Given the description of an element on the screen output the (x, y) to click on. 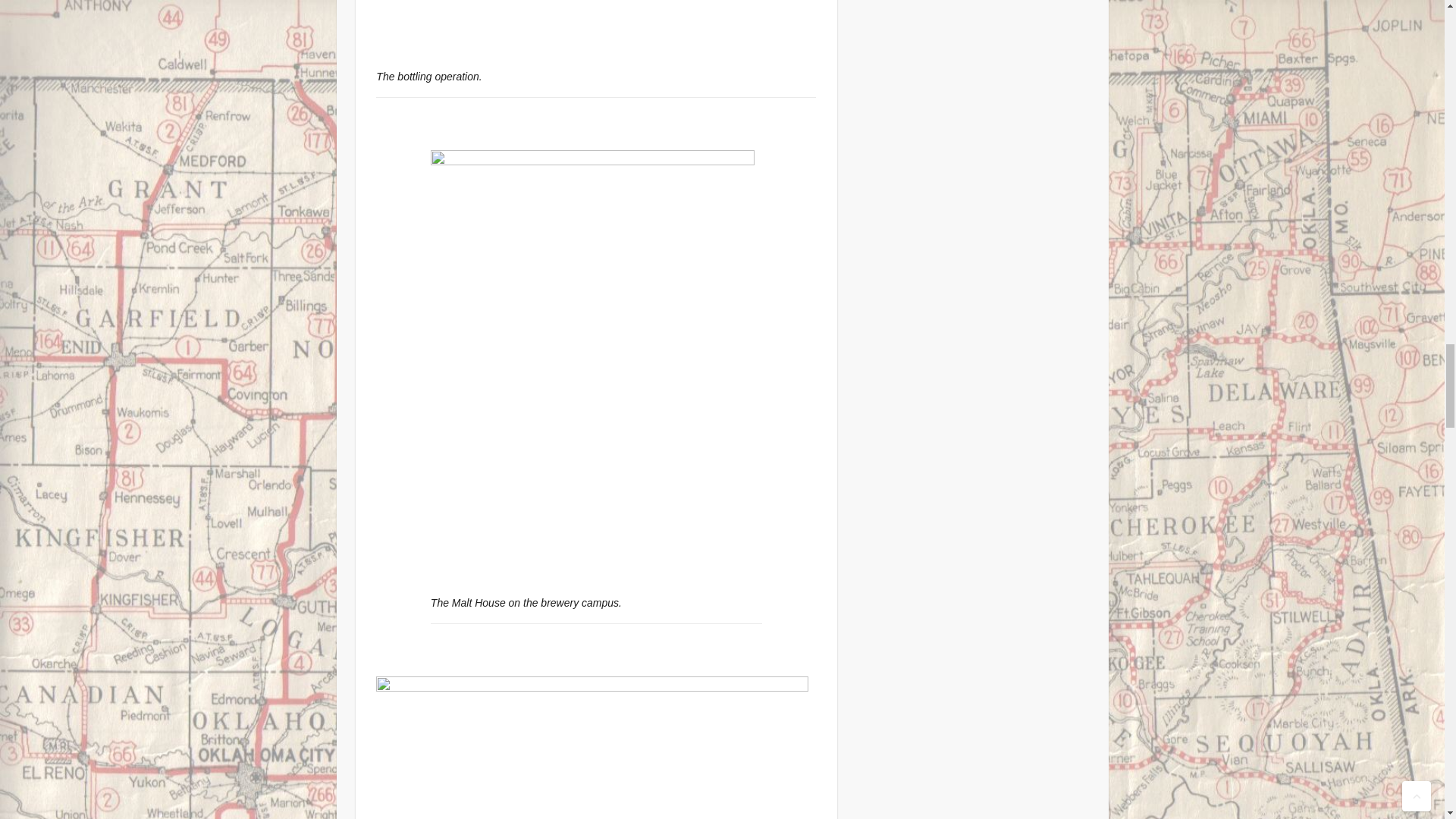
The bottling operation. (591, 28)
